Given the description of an element on the screen output the (x, y) to click on. 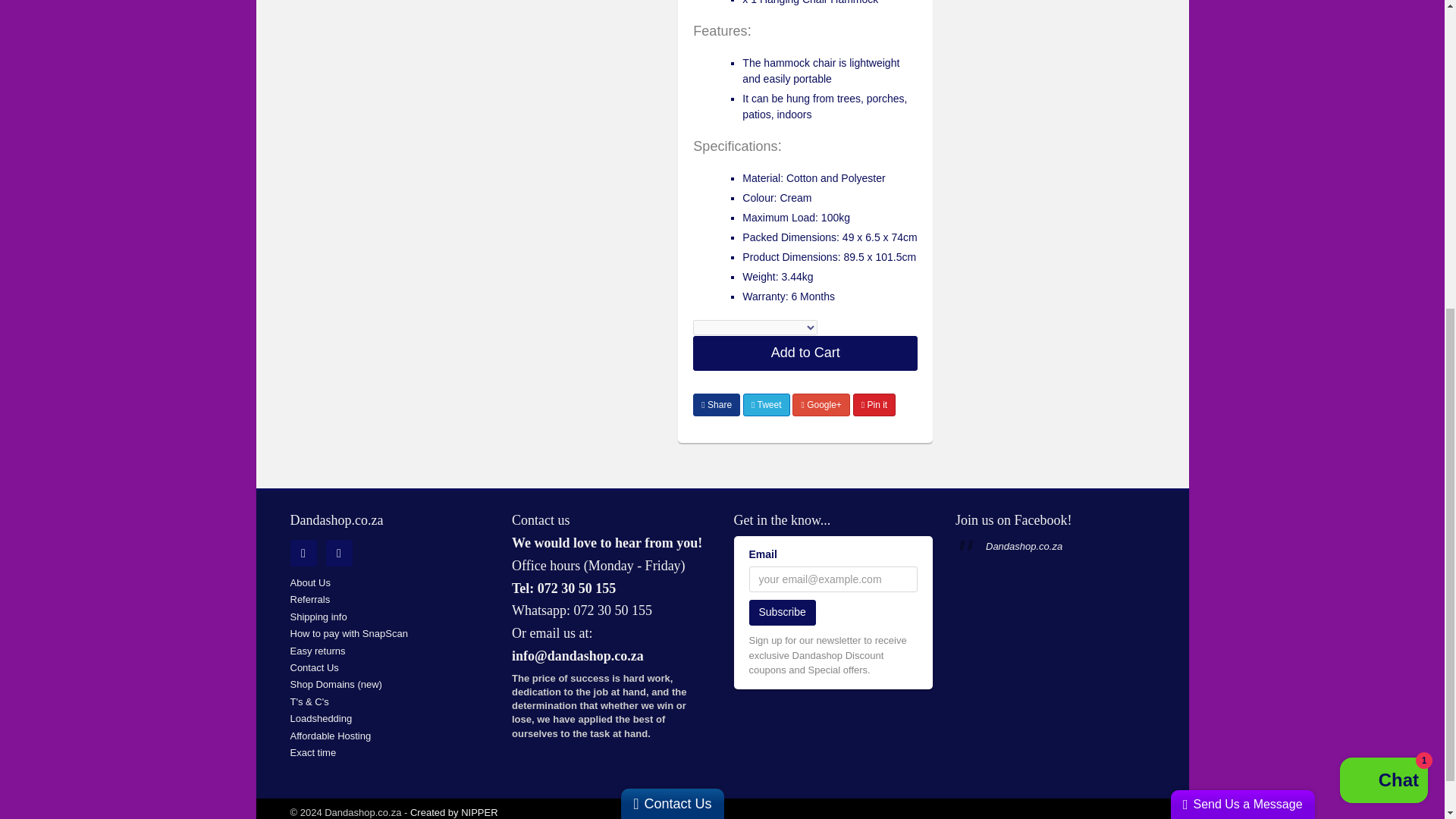
Add to Cart (805, 353)
Subscribe (782, 612)
Twitter (302, 552)
Facebook (339, 552)
Shopify online store chat (1383, 266)
